Given the description of an element on the screen output the (x, y) to click on. 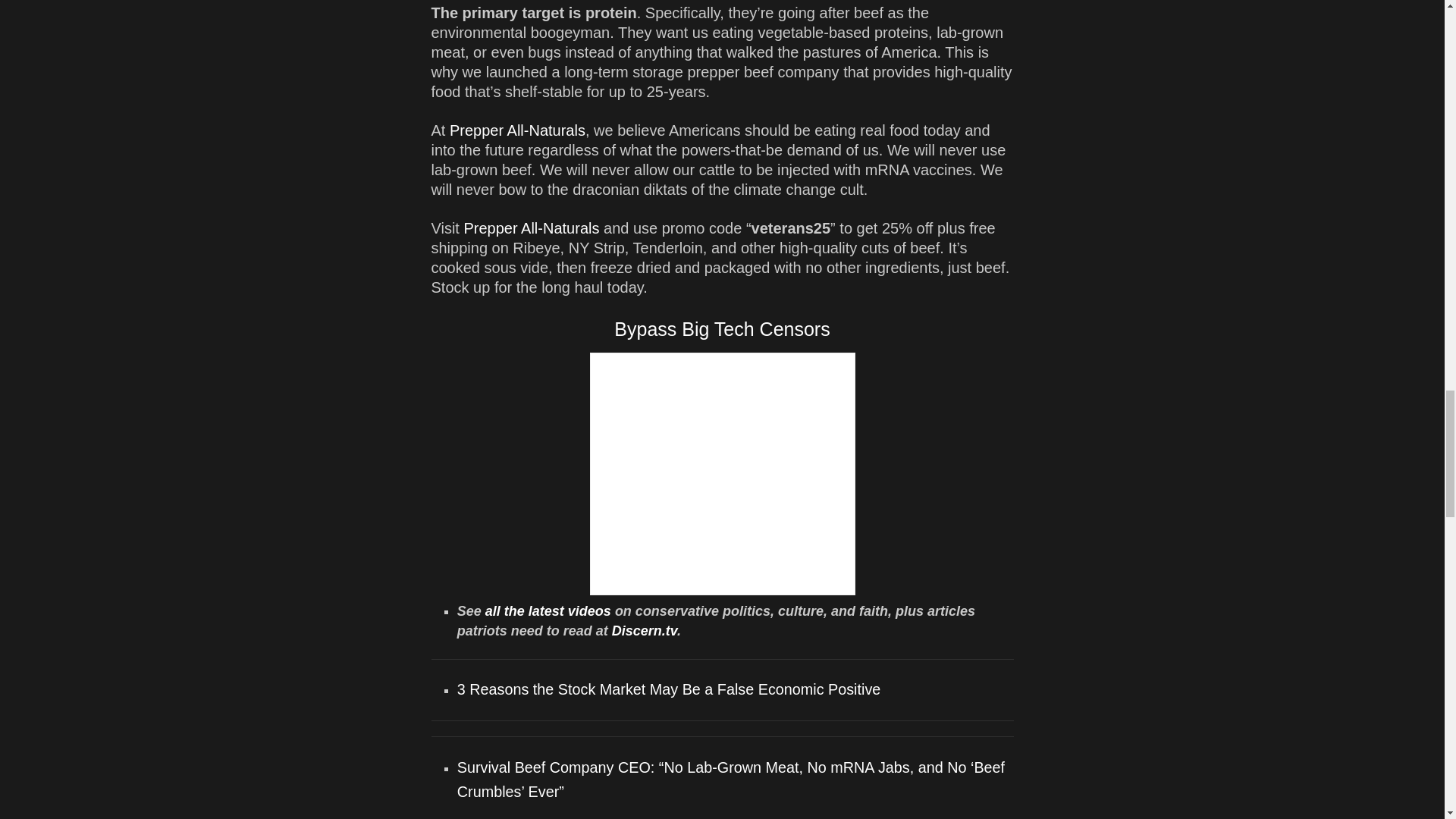
all the latest videos (547, 611)
Prepper All-Naturals (530, 228)
3 Reasons the Stock Market May Be a False Economic Positive (668, 688)
Discern.tv (644, 630)
Prepper All-Naturals (517, 130)
